Given the description of an element on the screen output the (x, y) to click on. 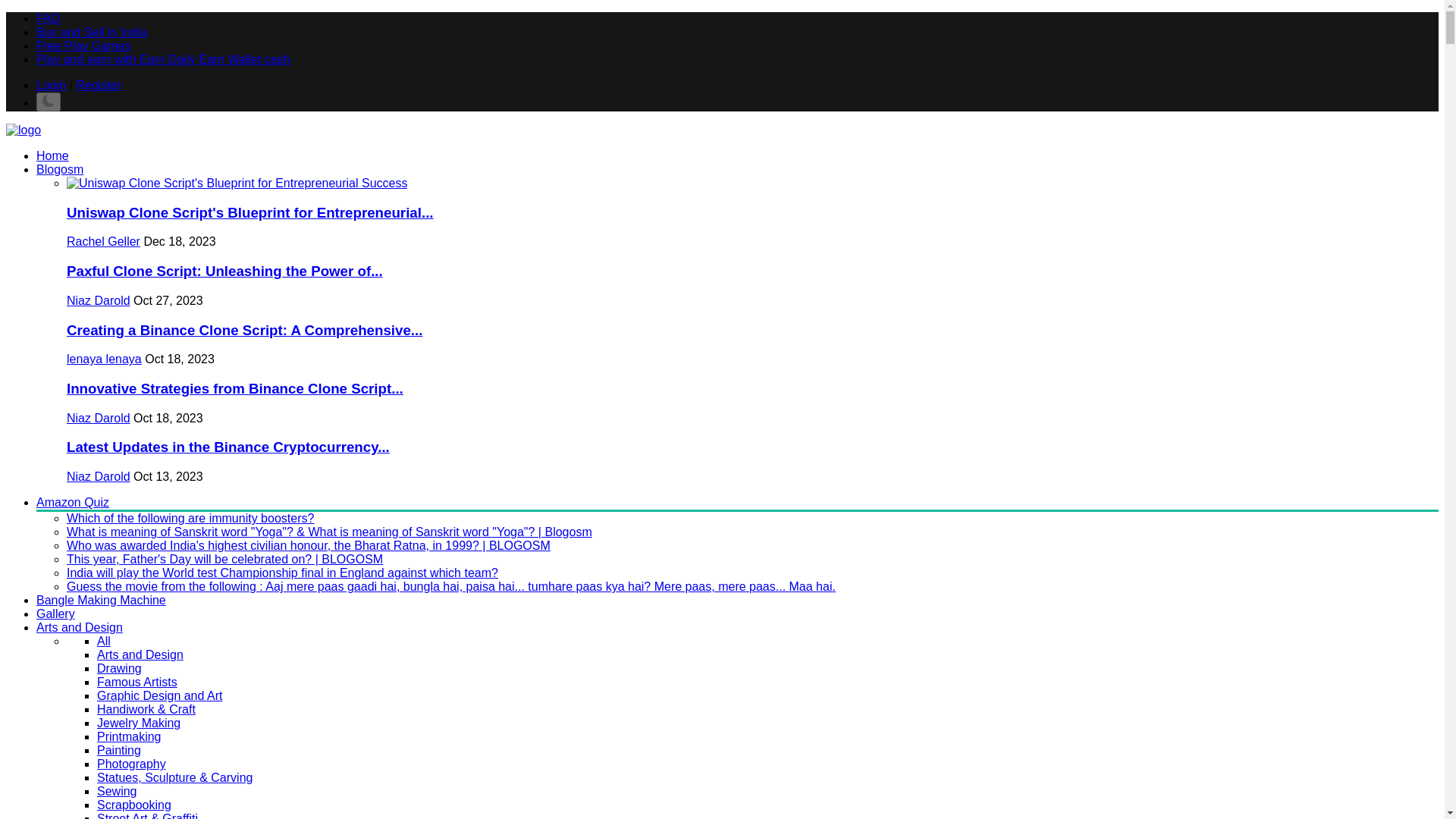
Arts and Design (79, 626)
Gallery (55, 613)
FAQ (48, 18)
Which of the following are immunity boosters? (190, 517)
Free Play Games (83, 45)
Printmaking (128, 736)
Buy and Sell in India (91, 31)
Home (52, 155)
Niaz Darold (98, 418)
Rachel Geller (102, 241)
Innovative Strategies from Binance Clone Script... (234, 388)
Latest Updates in the Binance Cryptocurrency... (228, 446)
Creating a Binance Clone Script: A Comprehensive... (244, 330)
Drawing (119, 667)
